Given the description of an element on the screen output the (x, y) to click on. 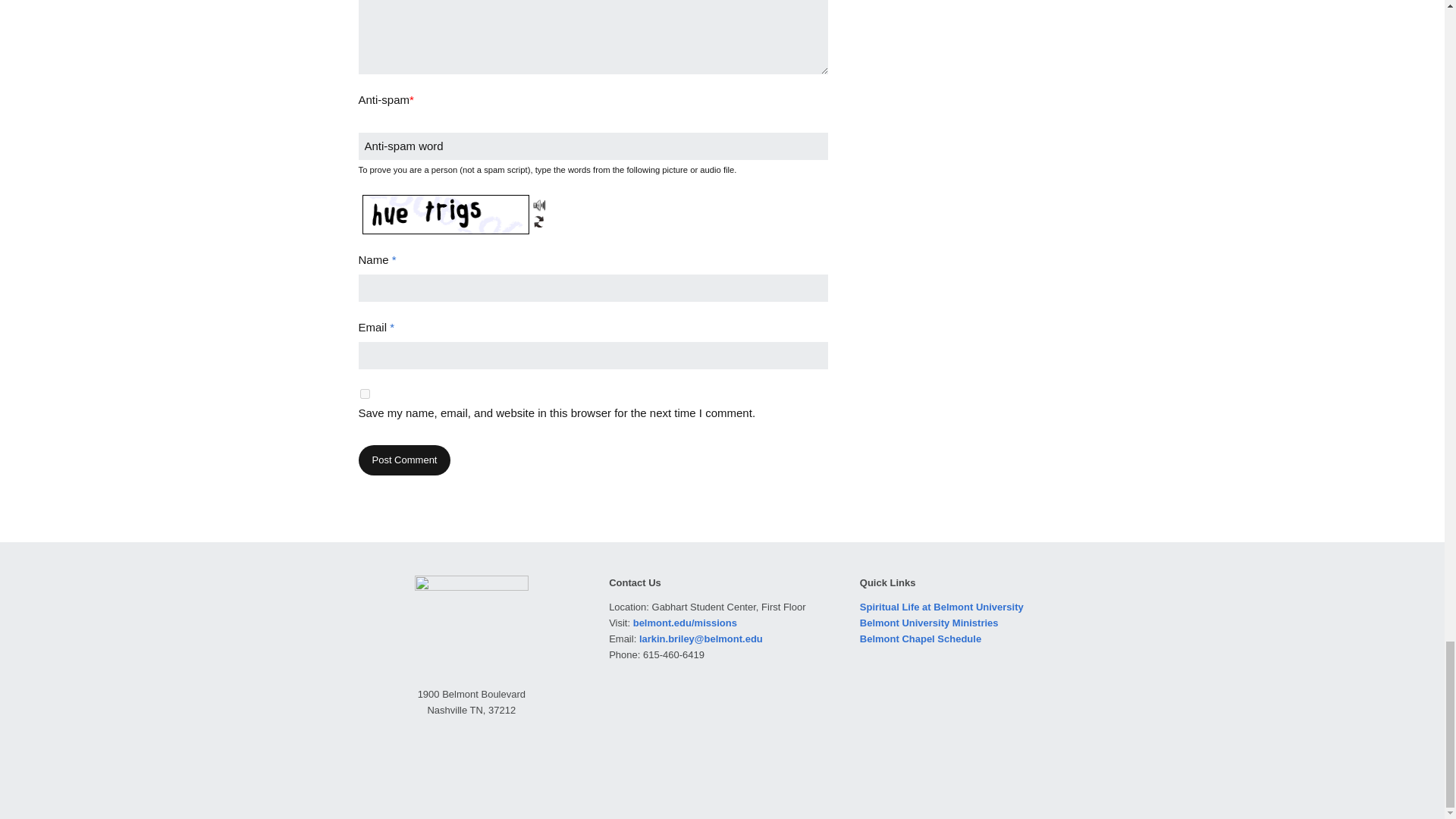
Post Comment (403, 460)
Belmont University Ministries (929, 622)
Load new (538, 220)
yes (364, 393)
Spiritual Life at Belmont University (941, 606)
Belmont Chapel Schedule (920, 638)
Listen to the Anti-spam word (538, 204)
Post Comment (403, 460)
